Given the description of an element on the screen output the (x, y) to click on. 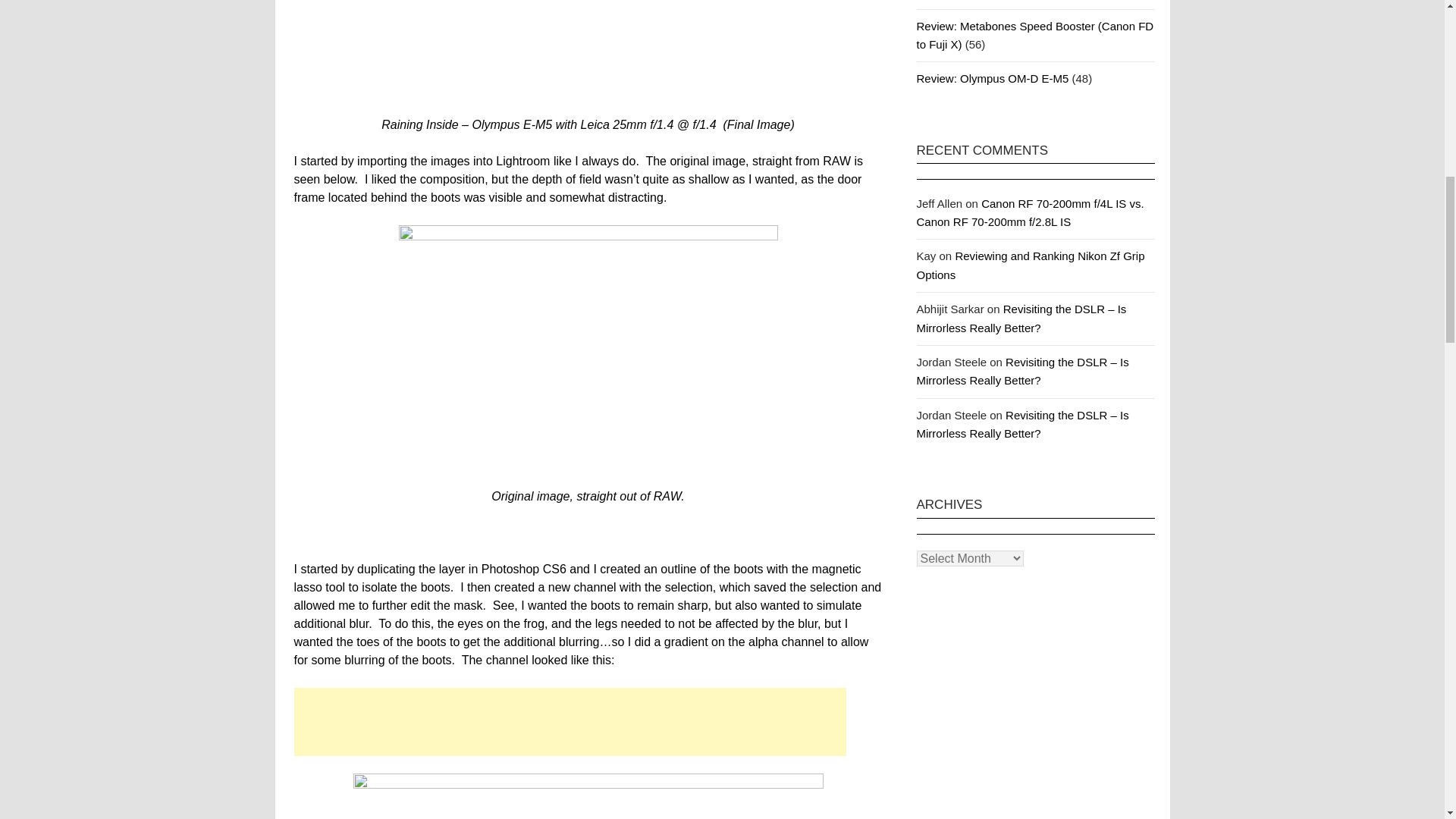
mask (588, 796)
Reviewing and Ranking Nikon Zf Grip Options (1029, 264)
Review: Olympus OM-D E-M5 (991, 78)
Boots (588, 53)
